Given the description of an element on the screen output the (x, y) to click on. 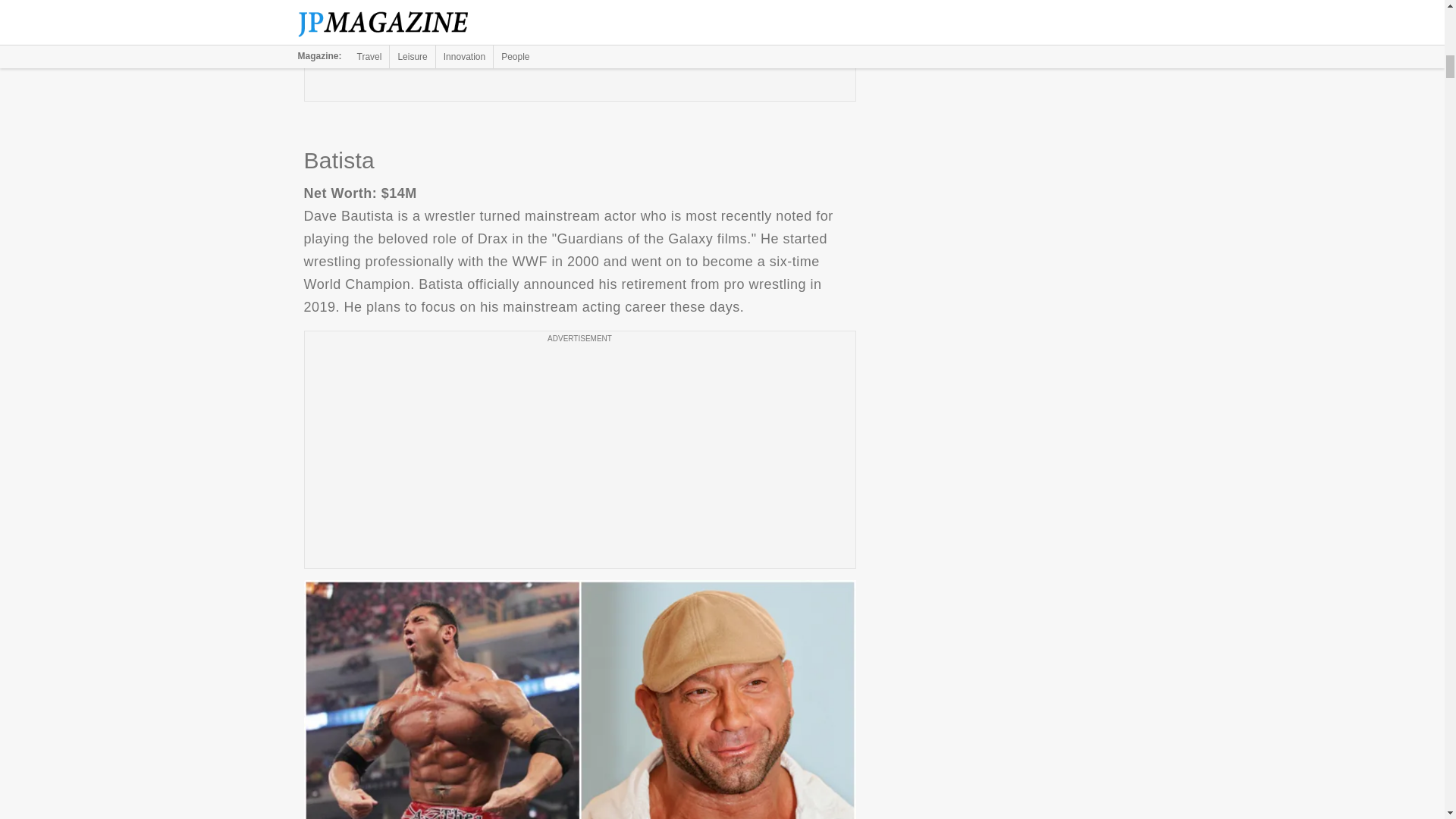
Batista (579, 699)
